Given the description of an element on the screen output the (x, y) to click on. 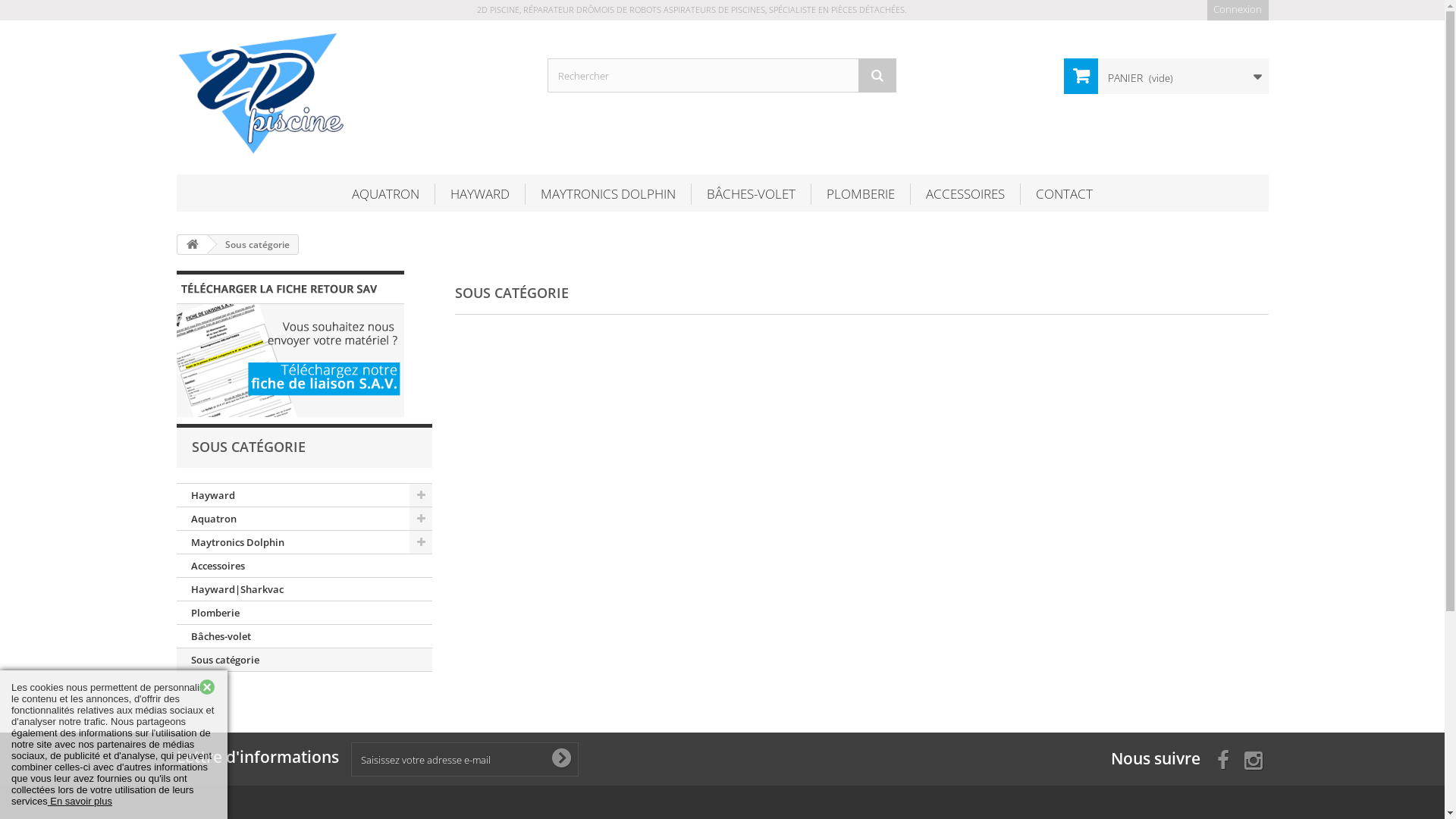
Hayward Element type: text (303, 495)
ACCESSOIRES Element type: text (964, 193)
MAYTRONICS DOLPHIN Element type: text (607, 193)
AQUATRON Element type: text (385, 193)
CONTACT Element type: text (1063, 193)
Aquatron Element type: text (303, 518)
2D Piscine Element type: hover (349, 93)
PLOMBERIE Element type: text (860, 193)
Hayward|Sharkvac Element type: text (303, 589)
Accessoires Element type: text (303, 565)
Plomberie Element type: text (303, 612)
Connexion Element type: text (1237, 10)
PANIER (vide) Element type: text (1165, 76)
Maytronics Dolphin Element type: text (303, 542)
HAYWARD Element type: text (479, 193)
